Given the description of an element on the screen output the (x, y) to click on. 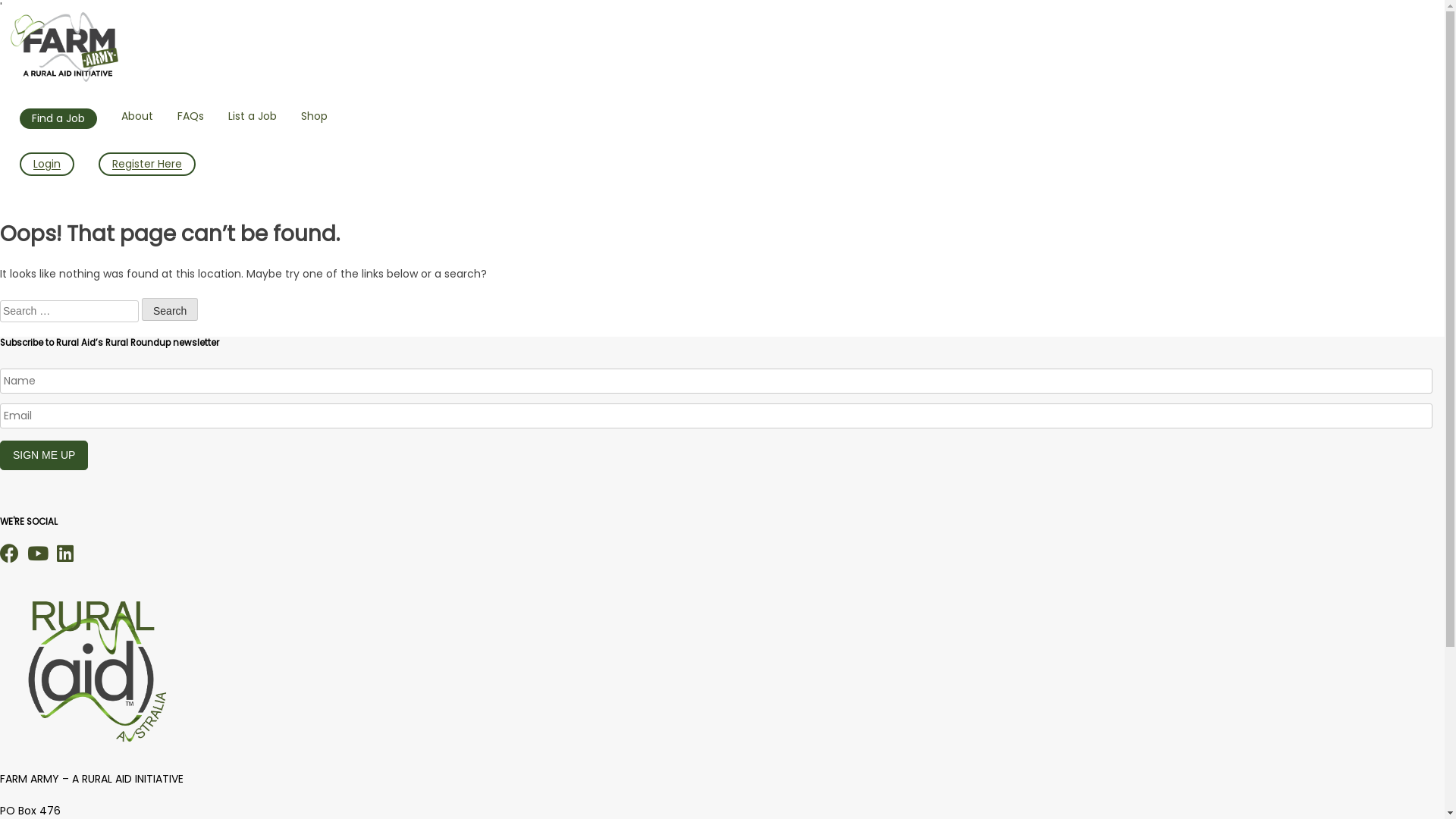
FAQs Element type: text (190, 116)
Shop Element type: text (314, 116)
SIGN ME UP Element type: text (43, 455)
About Element type: text (137, 116)
Login Element type: text (46, 163)
Find a Job Element type: text (57, 118)
Search Element type: text (169, 309)
List a Job Element type: text (252, 116)
Register Here Element type: text (146, 163)
